Given the description of an element on the screen output the (x, y) to click on. 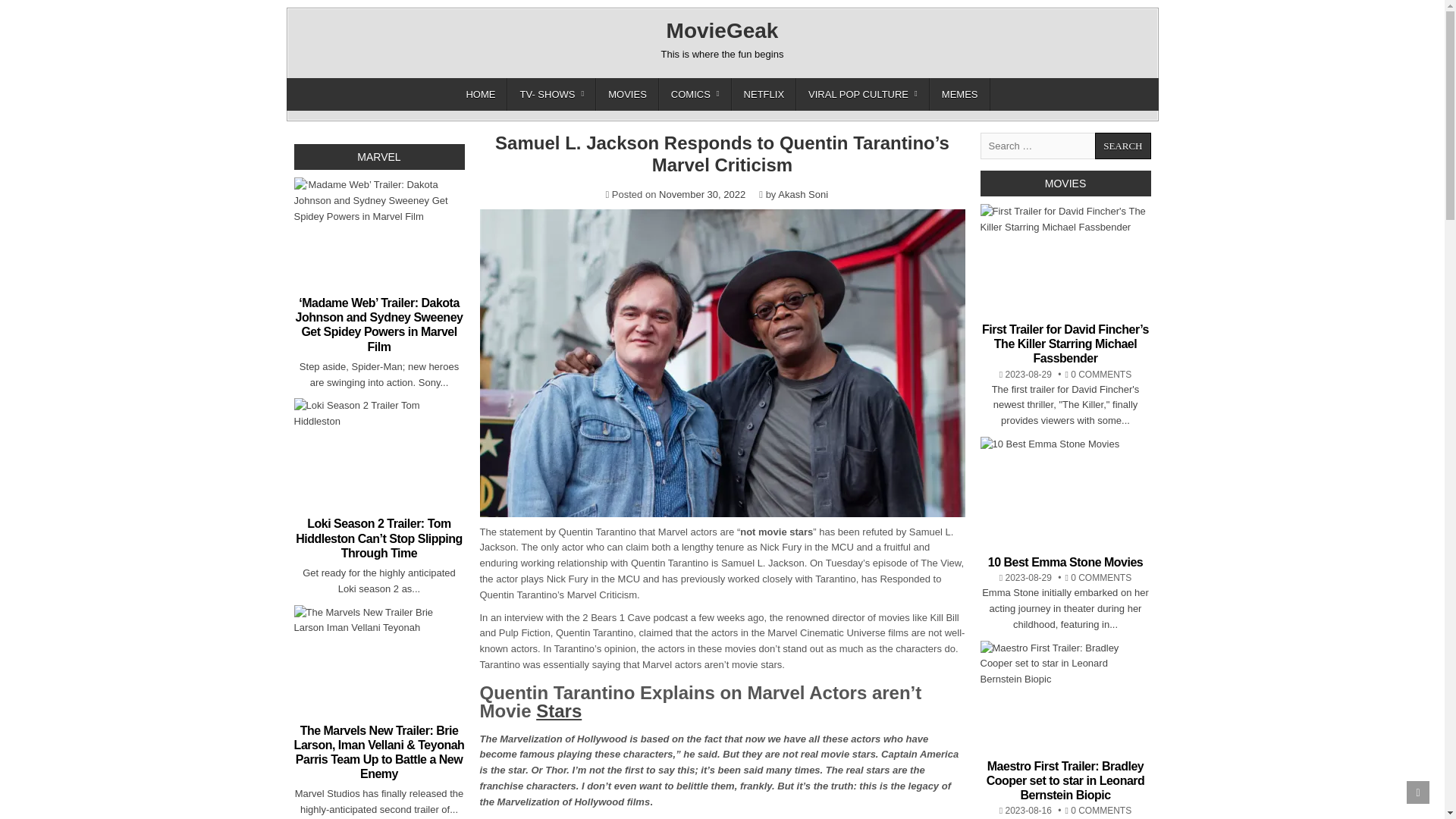
November 30, 2022 (702, 194)
VIRAL POP CULTURE (863, 93)
TV- SHOWS (550, 93)
MovieGeak (722, 30)
HOME (480, 93)
Search (1122, 145)
MOVIES (627, 93)
MEMES (960, 93)
COMICS (695, 93)
Stars (557, 711)
